Given the description of an element on the screen output the (x, y) to click on. 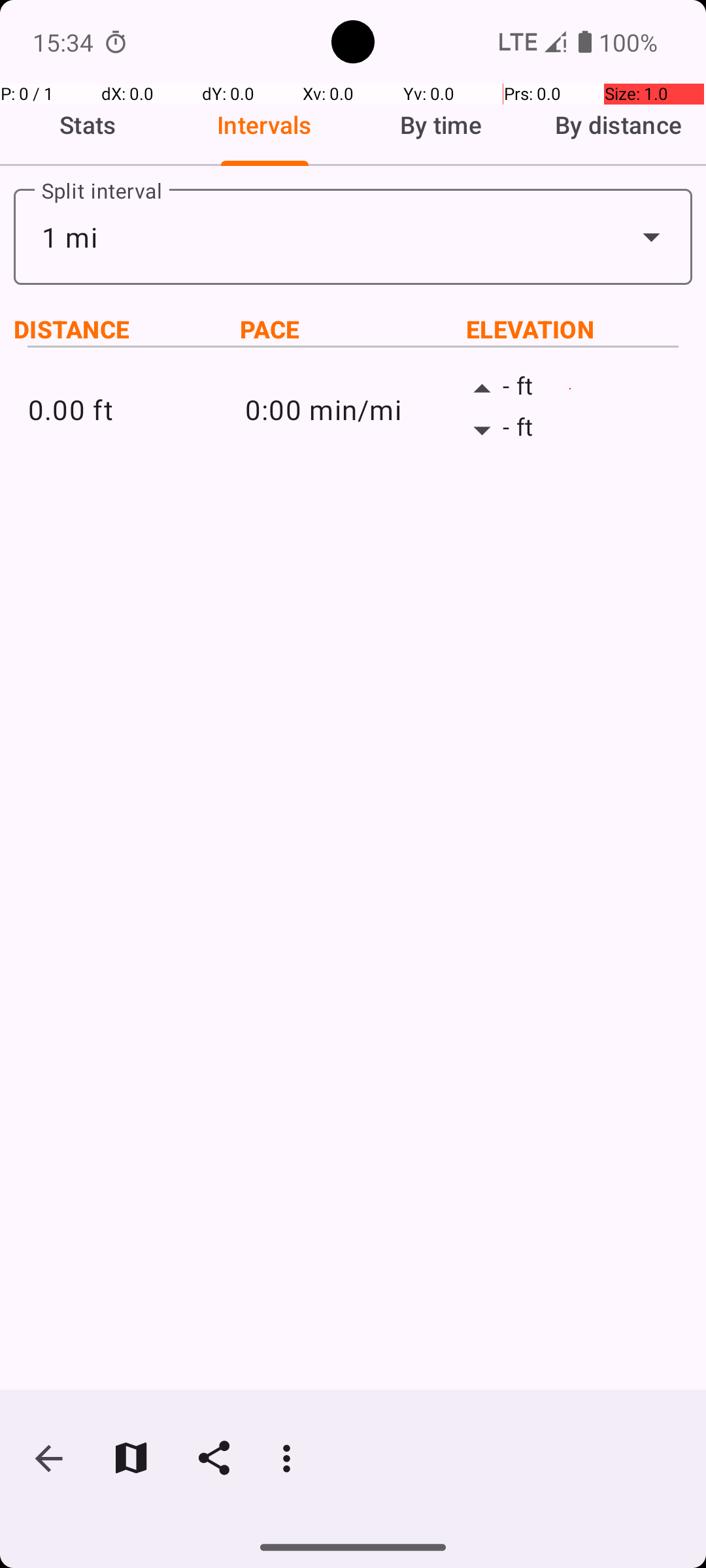
PACE Element type: android.widget.TextView (352, 328)
0:00 min/mi Element type: android.widget.TextView (352, 408)
